Given the description of an element on the screen output the (x, y) to click on. 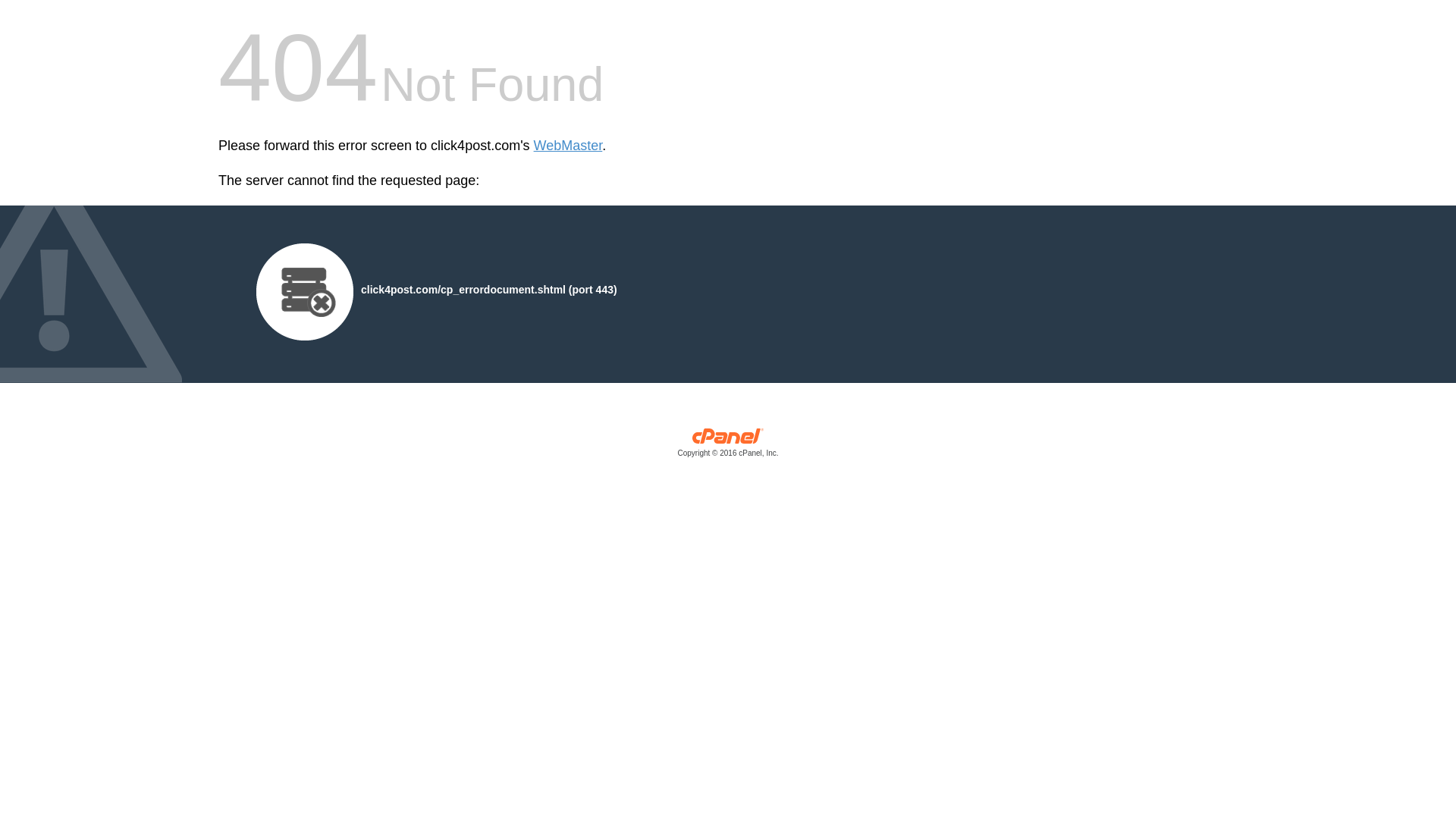
cPanel, Inc. (727, 446)
WebMaster (568, 145)
